Given the description of an element on the screen output the (x, y) to click on. 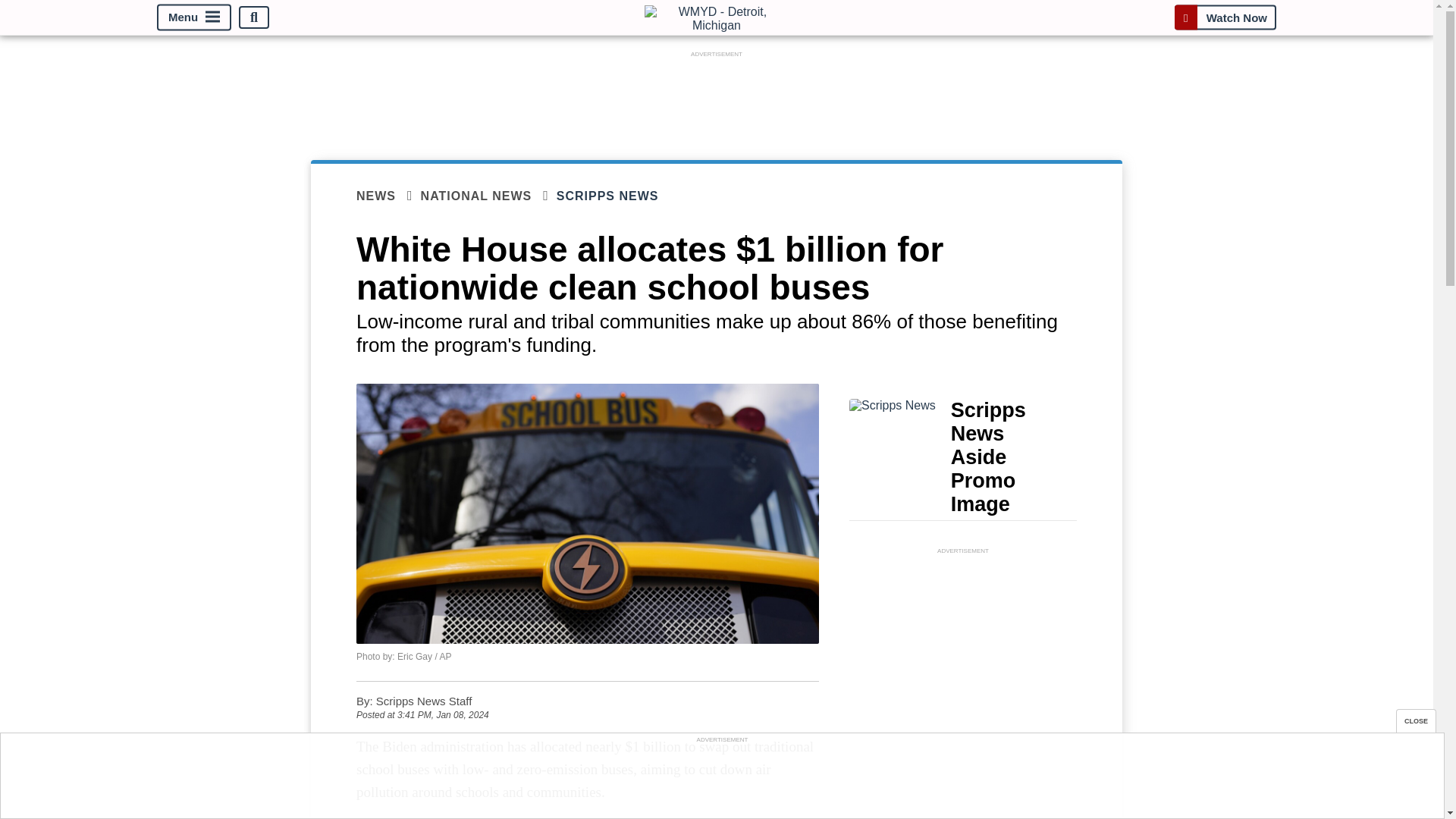
NATIONAL NEWS (488, 195)
Menu (194, 17)
3rd party ad content (962, 652)
NEWS (388, 195)
3rd party ad content (716, 95)
3rd party ad content (721, 780)
Watch Now (1224, 16)
SCRIPPS NEWS (617, 196)
